Given the description of an element on the screen output the (x, y) to click on. 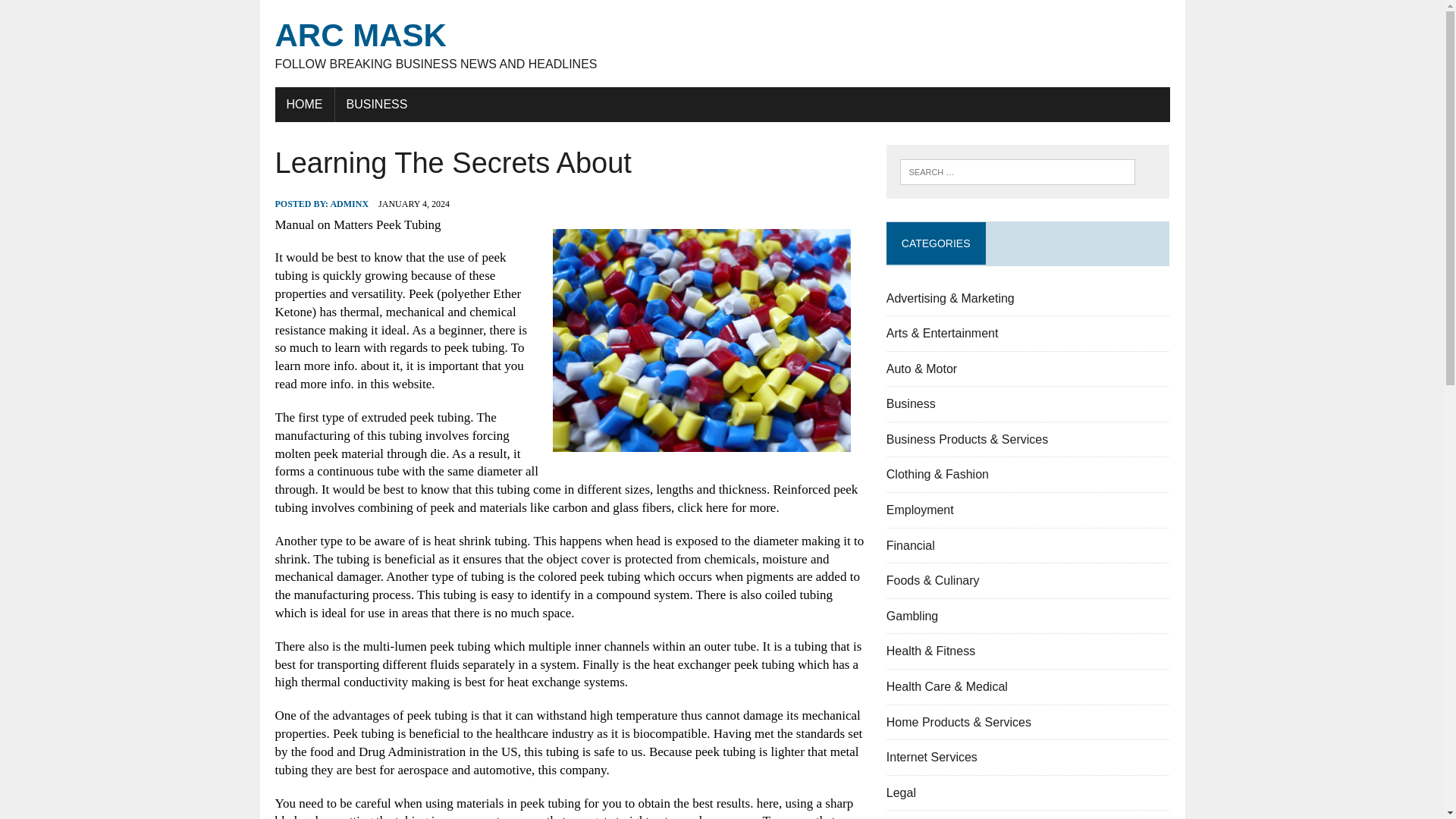
Search (75, 14)
Business (911, 403)
Arc Mask (722, 43)
HOME (304, 104)
Gambling (911, 615)
Legal (900, 792)
Employment (919, 509)
Internet Services (722, 43)
ADMINX (931, 757)
